Given the description of an element on the screen output the (x, y) to click on. 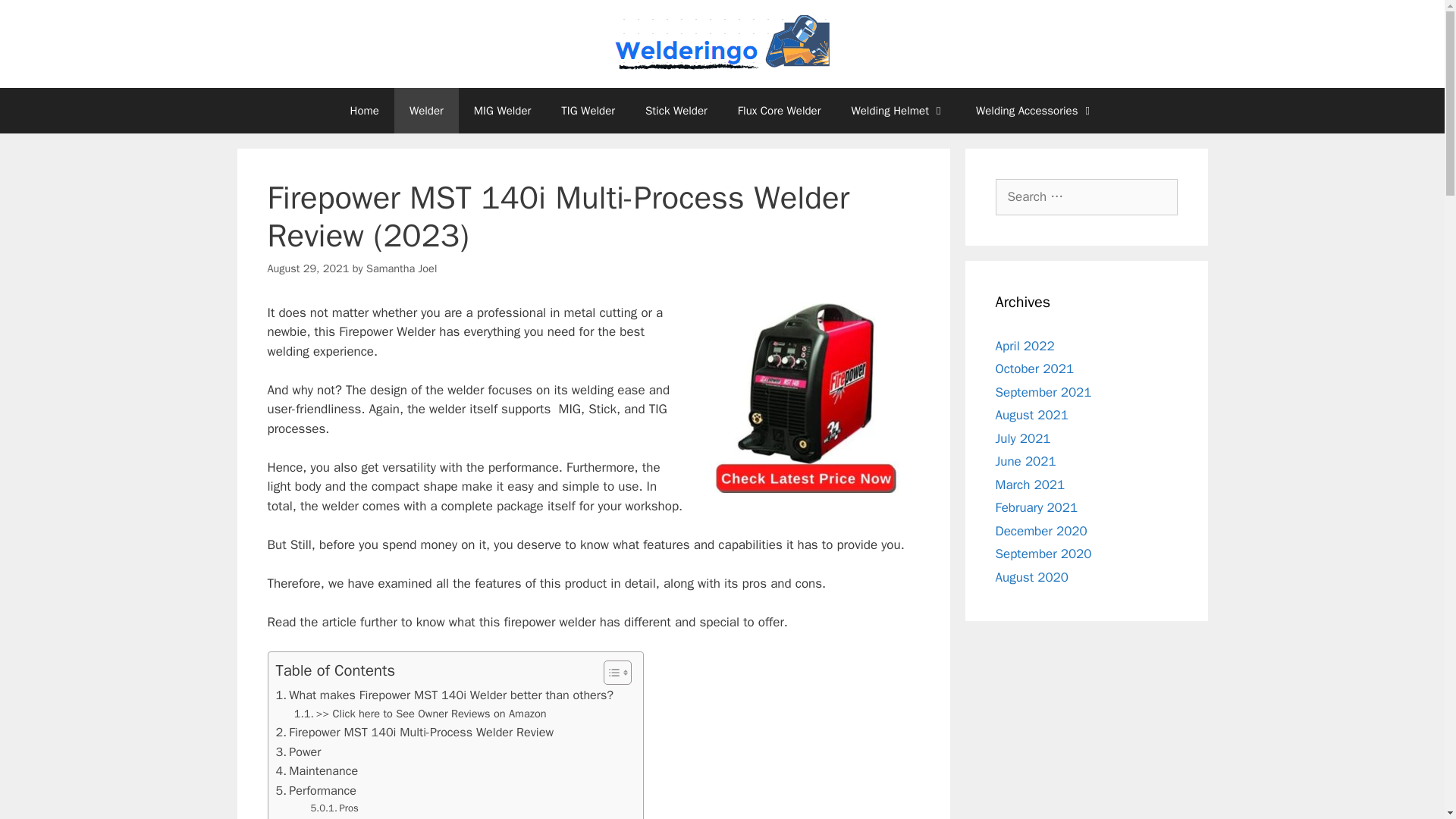
Pros (334, 808)
Performance (316, 790)
Firepower MST 140i Multi-Process Welder Review (415, 732)
Stick Welder (676, 110)
Welder (426, 110)
View all posts by Samantha Joel (401, 268)
Pros (334, 808)
Firepower MST 140i Multi-Process Welder Review (415, 732)
What makes Firepower MST 140i Welder better than others? (445, 695)
Welding Helmet (897, 110)
